Given the description of an element on the screen output the (x, y) to click on. 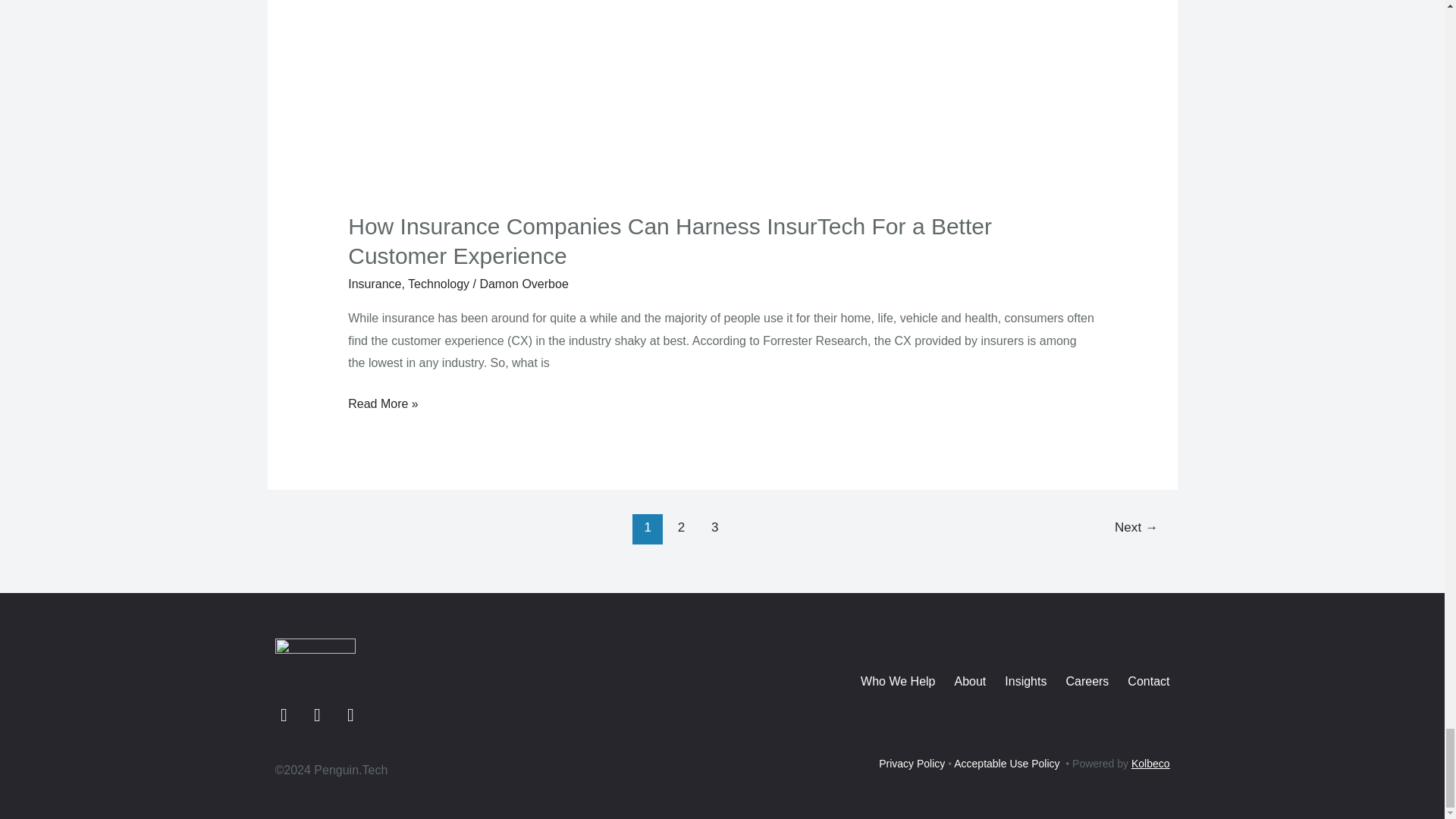
View all posts by Damon Overboe (523, 283)
